Given the description of an element on the screen output the (x, y) to click on. 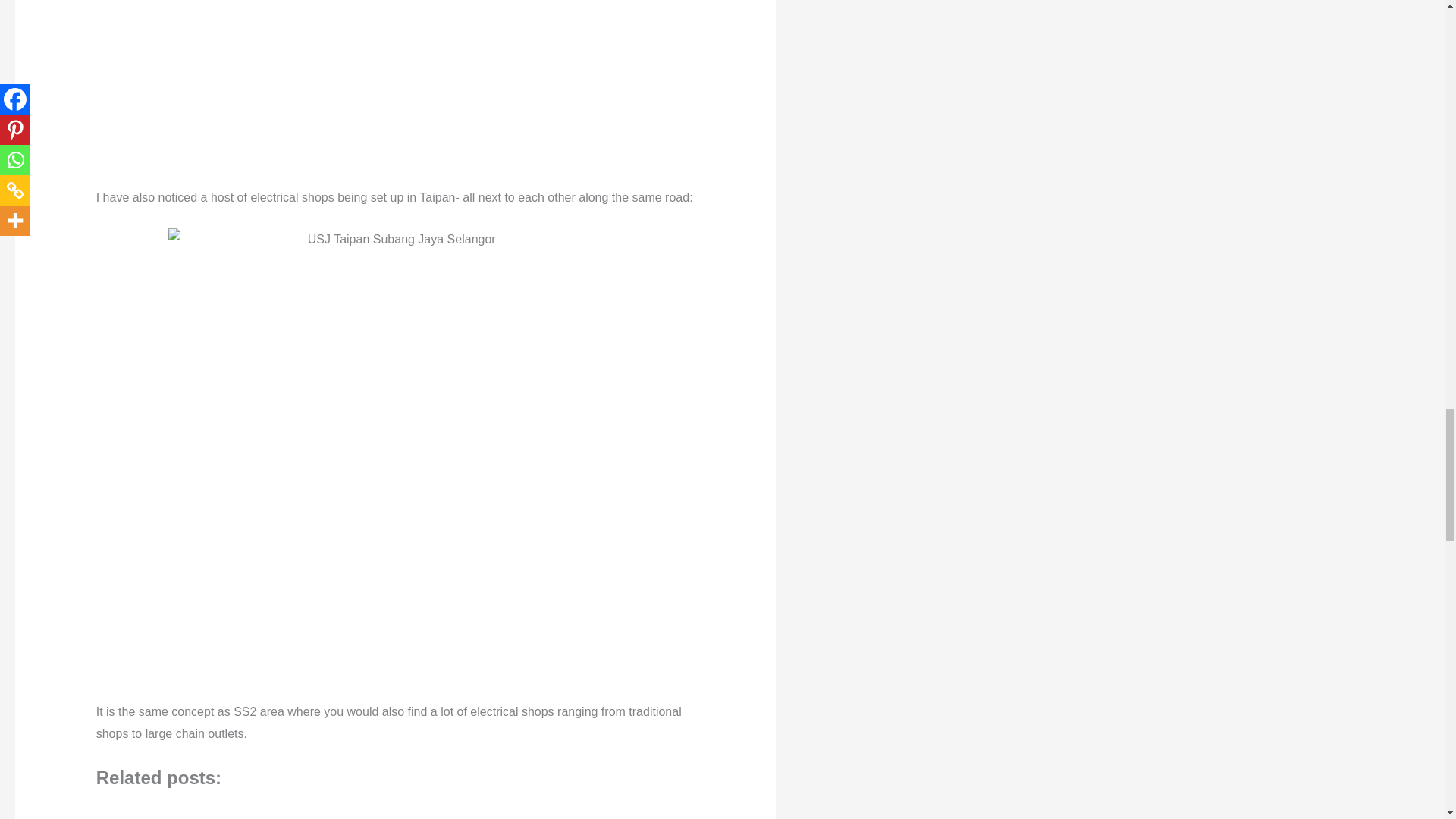
Inside a chrysanthemum farm in Cameron Highlands (401, 812)
KFC breakfast set (524, 812)
Reasonably priced bread and cakes in Malaysia (279, 812)
Pelabuhan Klang to Pulau Ketam- therapeutic getaway (157, 812)
